Given the description of an element on the screen output the (x, y) to click on. 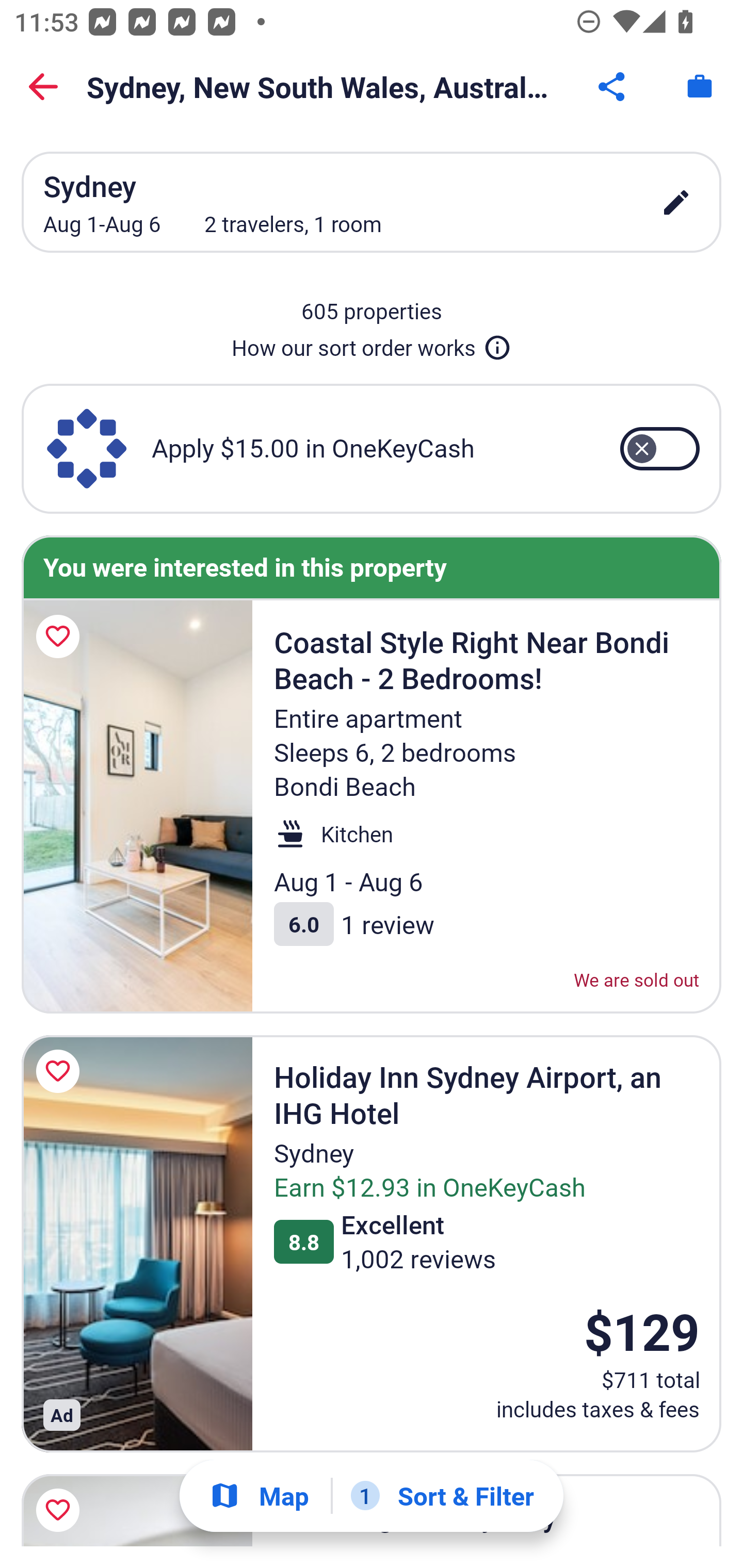
Back (43, 86)
Share Button (612, 86)
Trips. Button (699, 86)
Sydney Aug 1-Aug 6 2 travelers, 1 room edit (371, 202)
How our sort order works (371, 344)
Coastal Style Right Near Bondi Beach - 2 Bedrooms! (136, 806)
Holiday Inn Sydney Airport, an IHG Hotel (136, 1242)
1 Sort & Filter 1 Filter applied. Filters Button (442, 1495)
Save The Langham, Sydney to a trip (61, 1506)
Show map Map Show map Button (258, 1495)
